Given the description of an element on the screen output the (x, y) to click on. 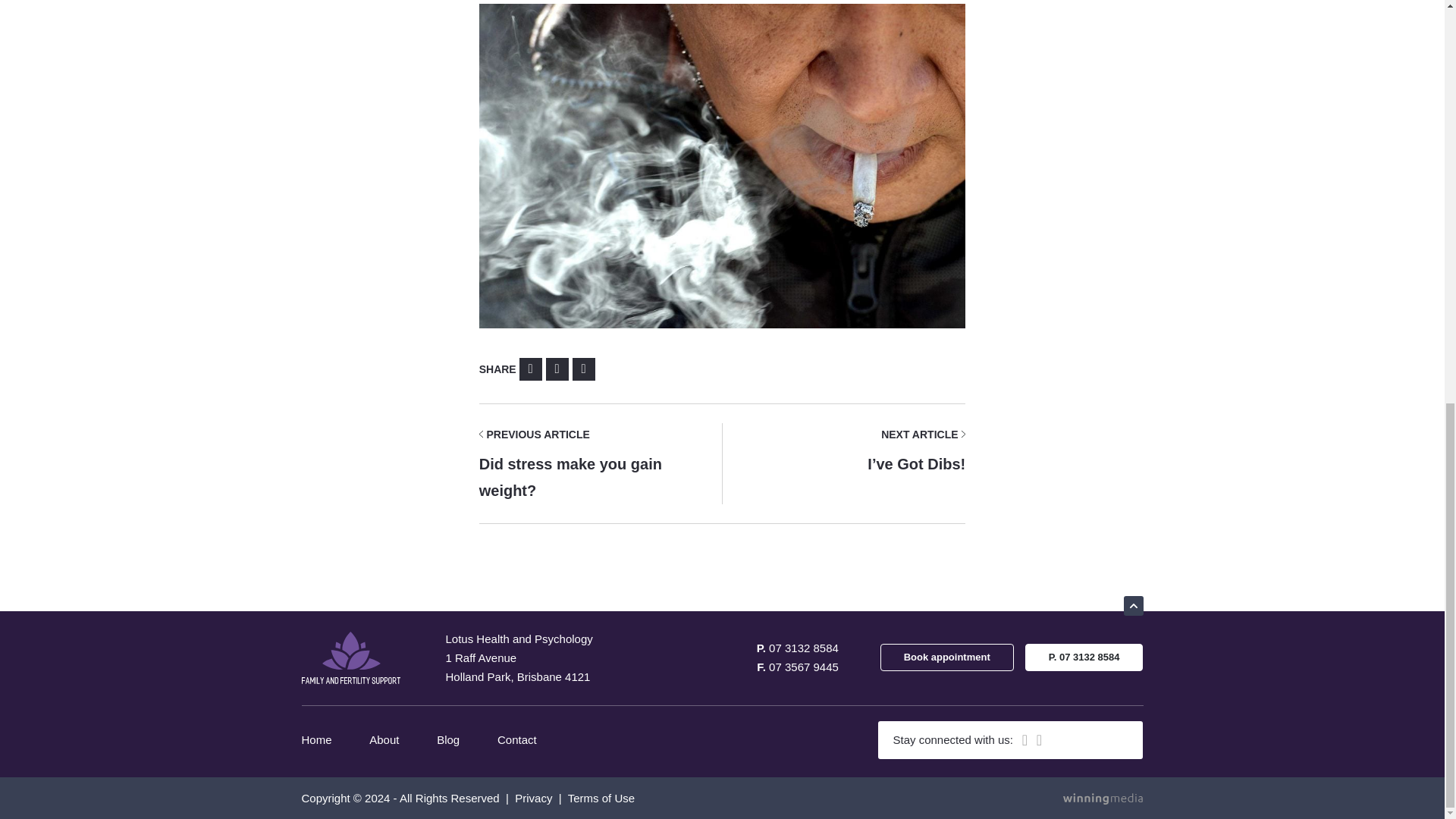
Fax (797, 666)
Phone (600, 463)
Did stress make you gain weight? (797, 647)
